Given the description of an element on the screen output the (x, y) to click on. 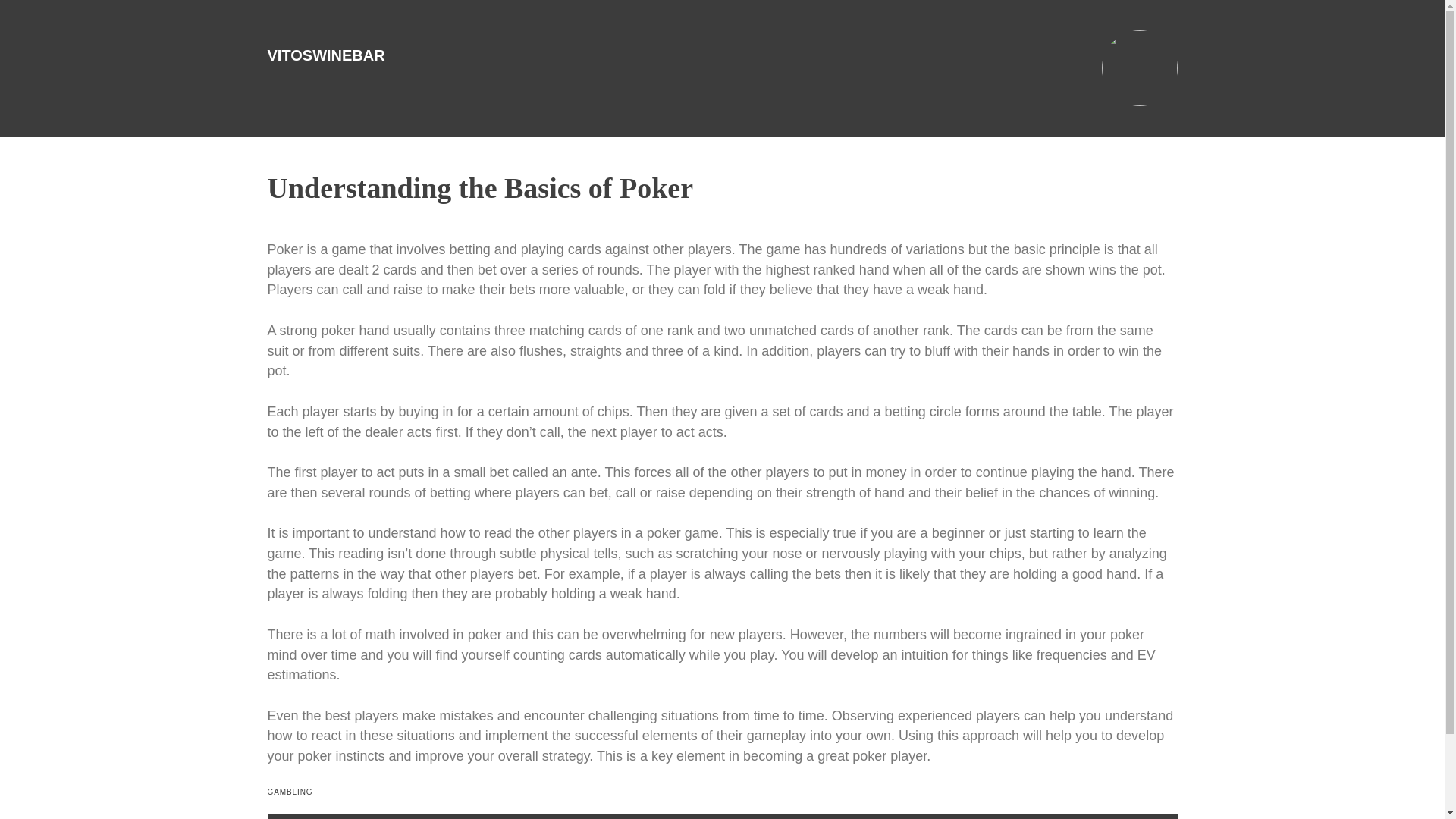
VITOSWINEBAR (325, 54)
GAMBLING (289, 791)
vitoswinebar (325, 54)
